Given the description of an element on the screen output the (x, y) to click on. 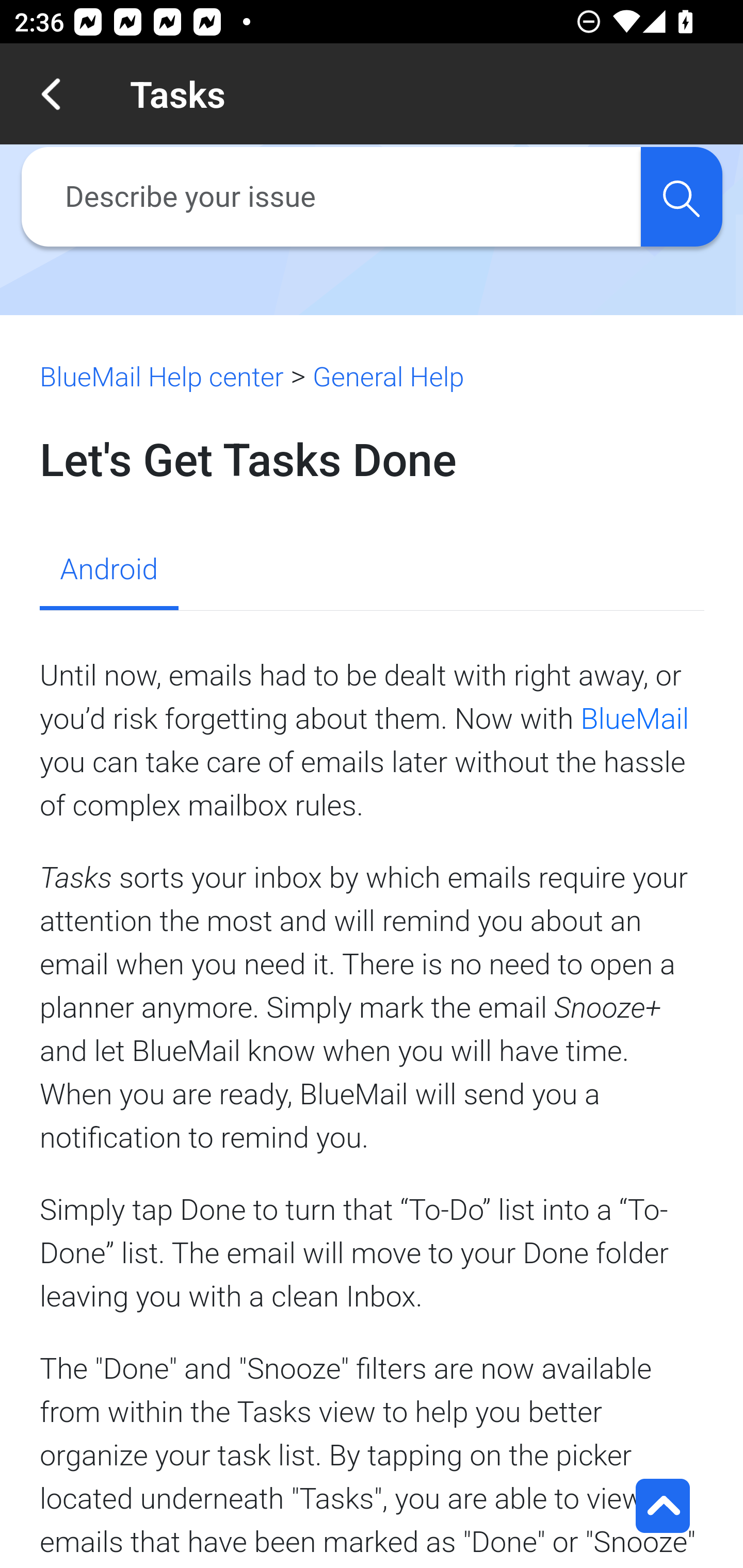
Navigate up (50, 93)
